Given the description of an element on the screen output the (x, y) to click on. 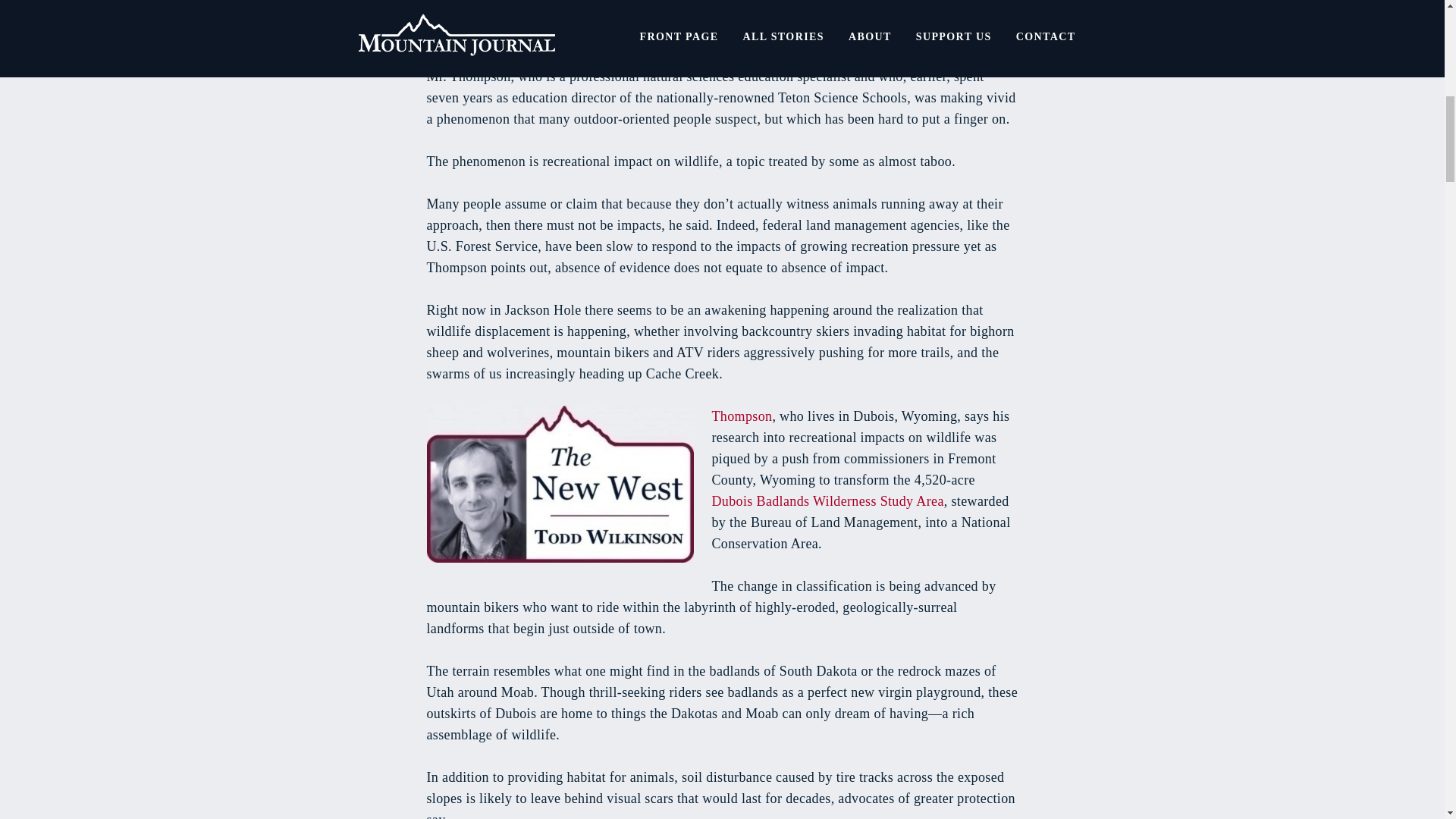
Dubois Badlands Wilderness Study Area (827, 500)
Thompson (741, 416)
